Given the description of an element on the screen output the (x, y) to click on. 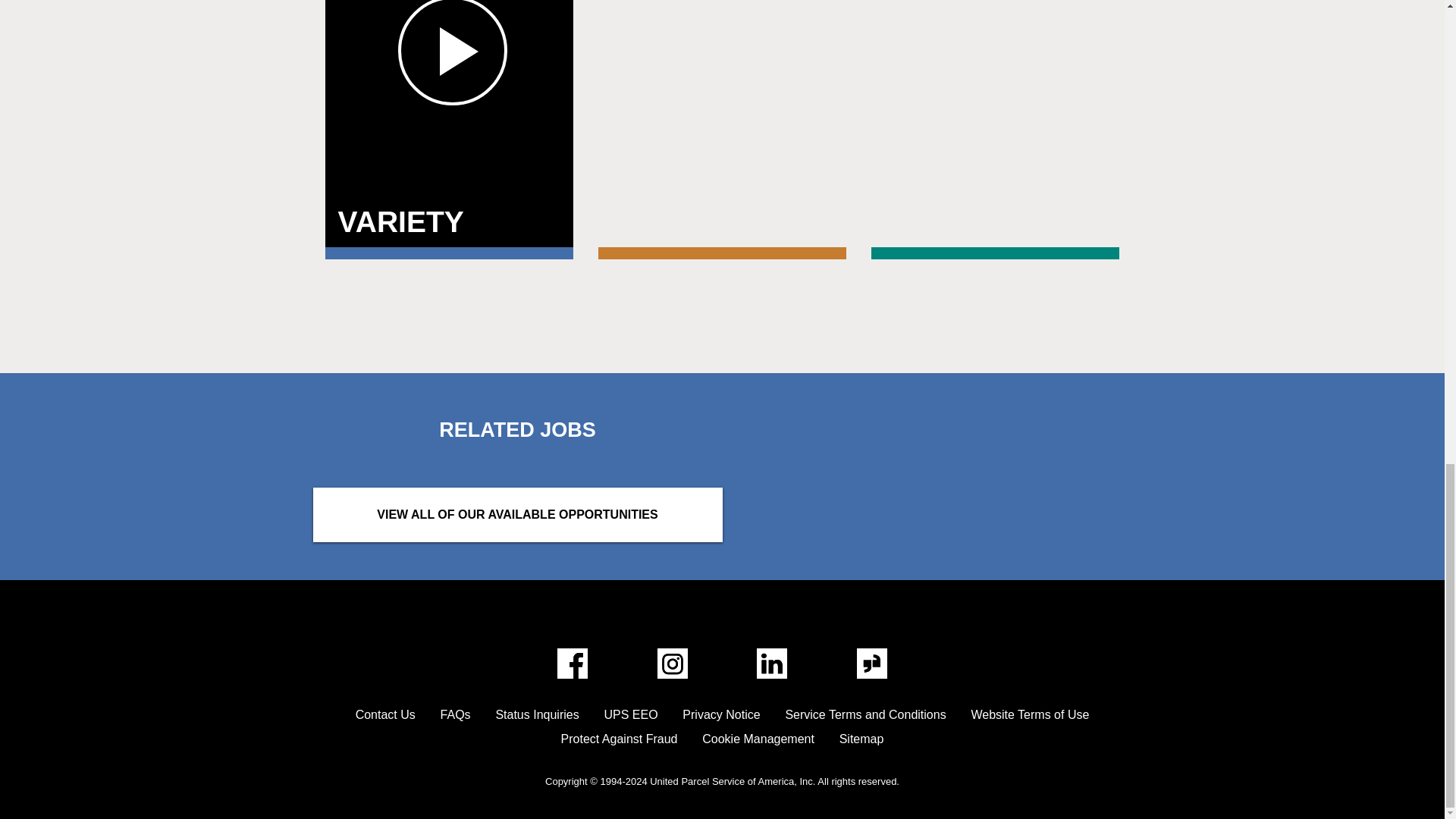
Facebook (572, 663)
Contact Us (384, 714)
LinkedIn (772, 663)
Glassdoor (871, 663)
VIEW ALL OF OUR AVAILABLE OPPORTUNITIES (448, 123)
Instagram (517, 514)
